Given the description of an element on the screen output the (x, y) to click on. 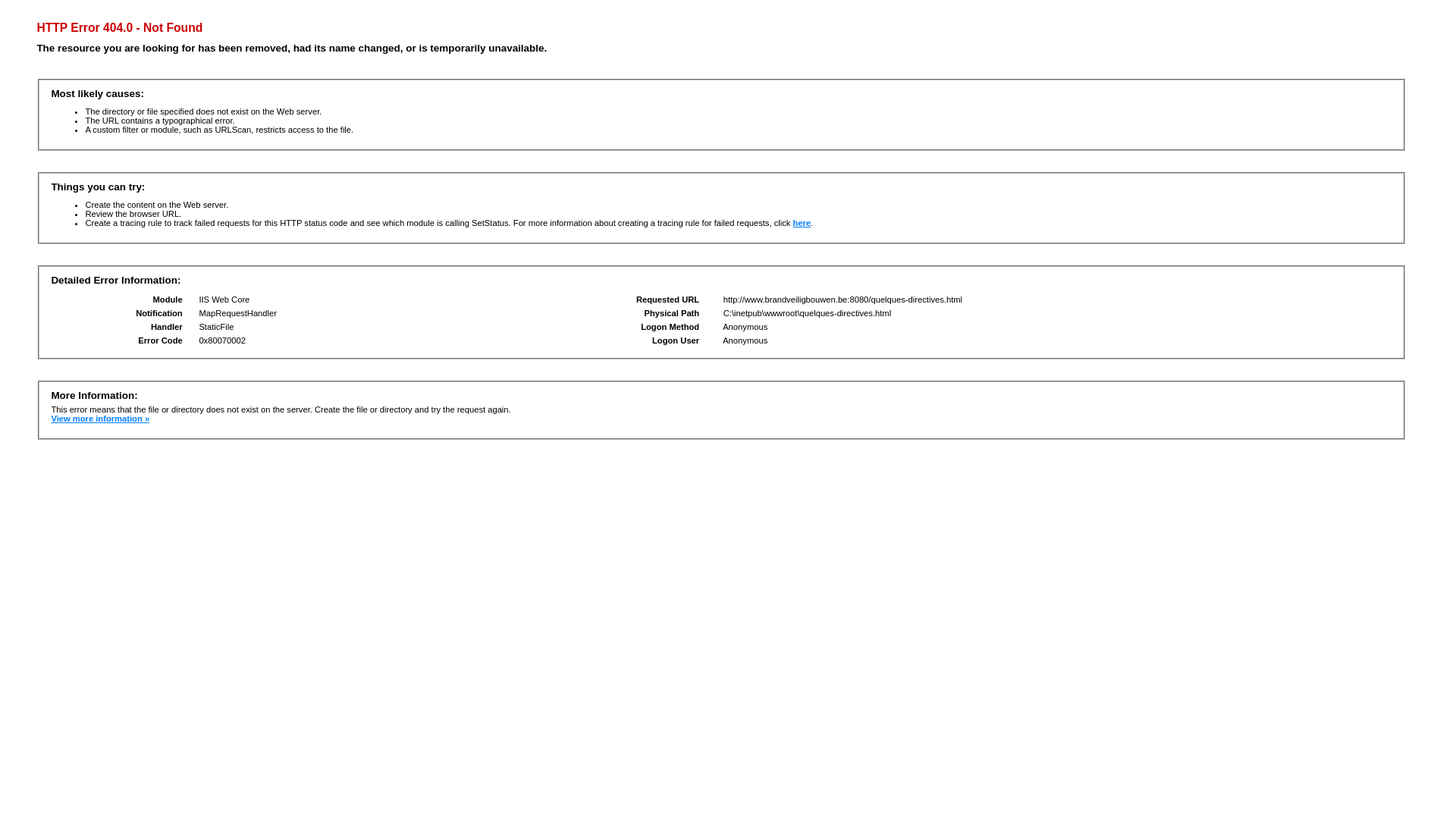
here Element type: text (802, 222)
